Given the description of an element on the screen output the (x, y) to click on. 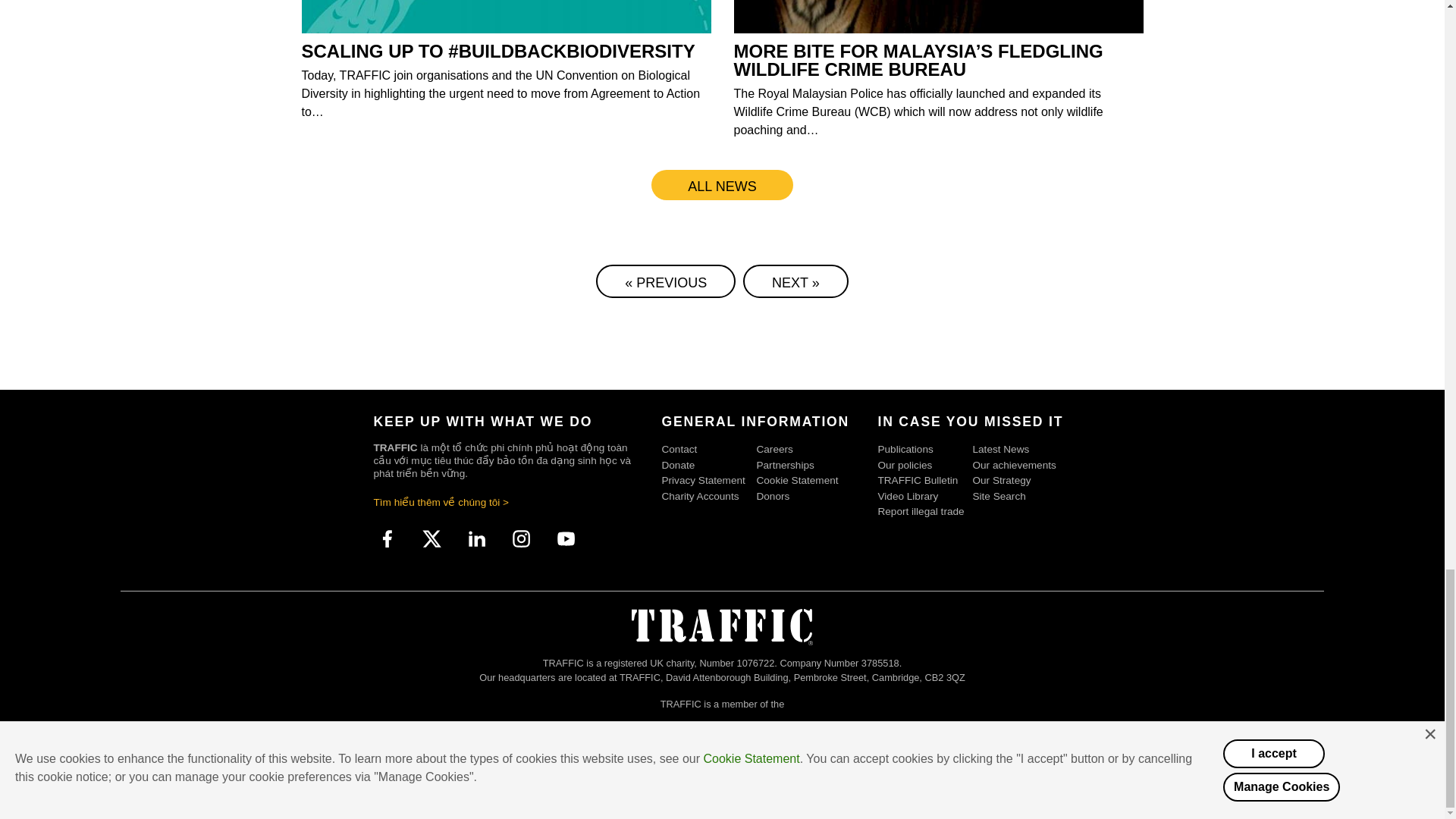
Video library (924, 496)
Visit our YouTube Channel (566, 538)
Visit our Facebook Page (386, 538)
Charity accounts (708, 496)
Follow us on Instagram (521, 538)
Follow us on Twitter (432, 538)
Contact us at LinkedIn (476, 538)
